Given the description of an element on the screen output the (x, y) to click on. 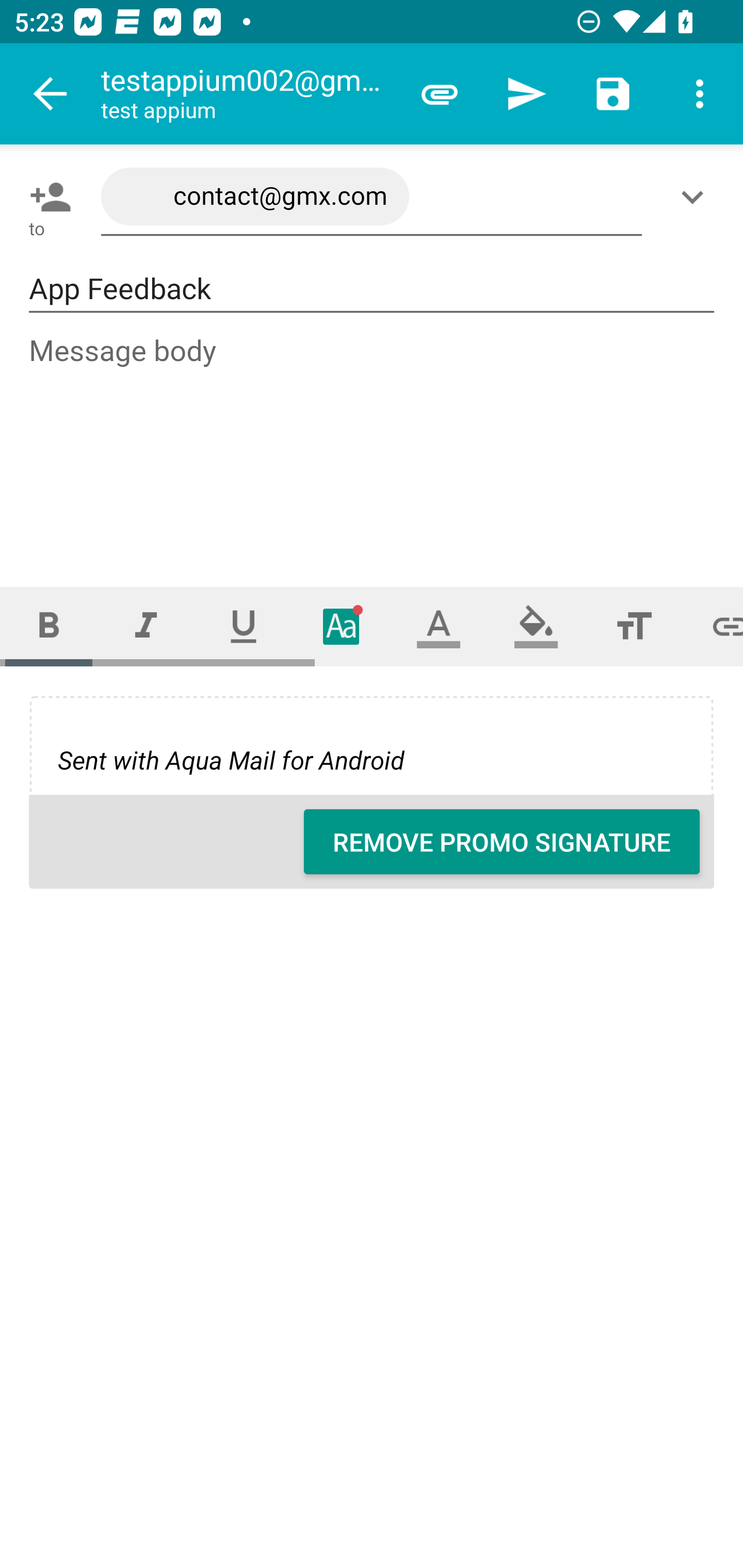
Navigate up (50, 93)
testappium002@gmail.com test appium (248, 93)
Attach (439, 93)
Send (525, 93)
Save (612, 93)
More options (699, 93)
contact@gmx.com,  (371, 197)
Pick contact: To (46, 196)
Show/Add CC/BCC (696, 196)
App Feedback (371, 288)
Message body (372, 442)
Bold (48, 626)
Italic (145, 626)
Underline (243, 626)
Typeface (font) (341, 626)
Text color (438, 626)
Fill color (536, 626)
Font size (633, 626)
Set link (712, 626)
REMOVE PROMO SIGNATURE (501, 841)
